Given the description of an element on the screen output the (x, y) to click on. 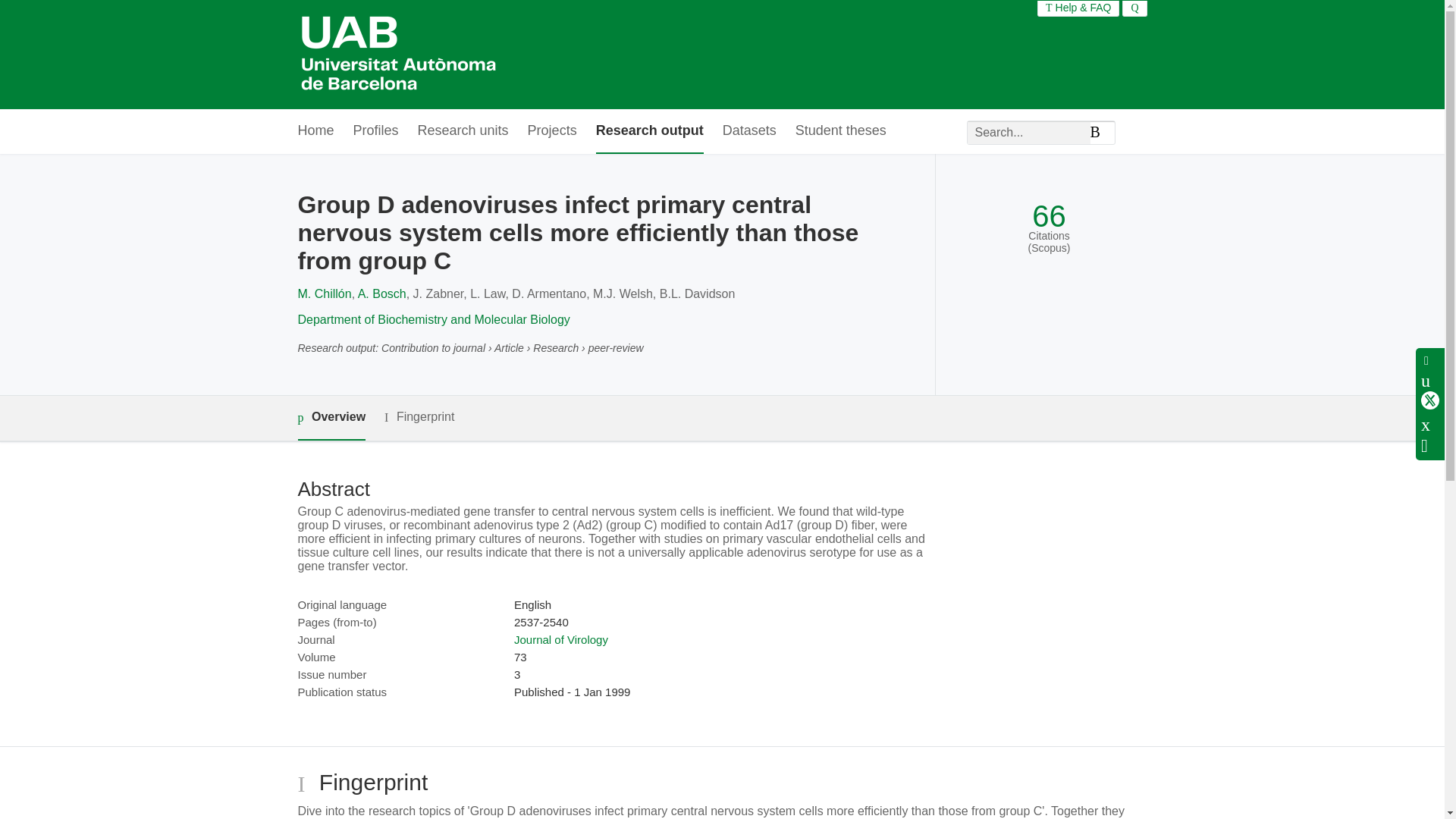
Research output (649, 130)
Overview (331, 417)
Journal of Virology (560, 639)
Student theses (840, 130)
A. Bosch (382, 293)
Fingerprint (419, 416)
66 (1048, 216)
Research units (462, 130)
Projects (551, 130)
